Given the description of an element on the screen output the (x, y) to click on. 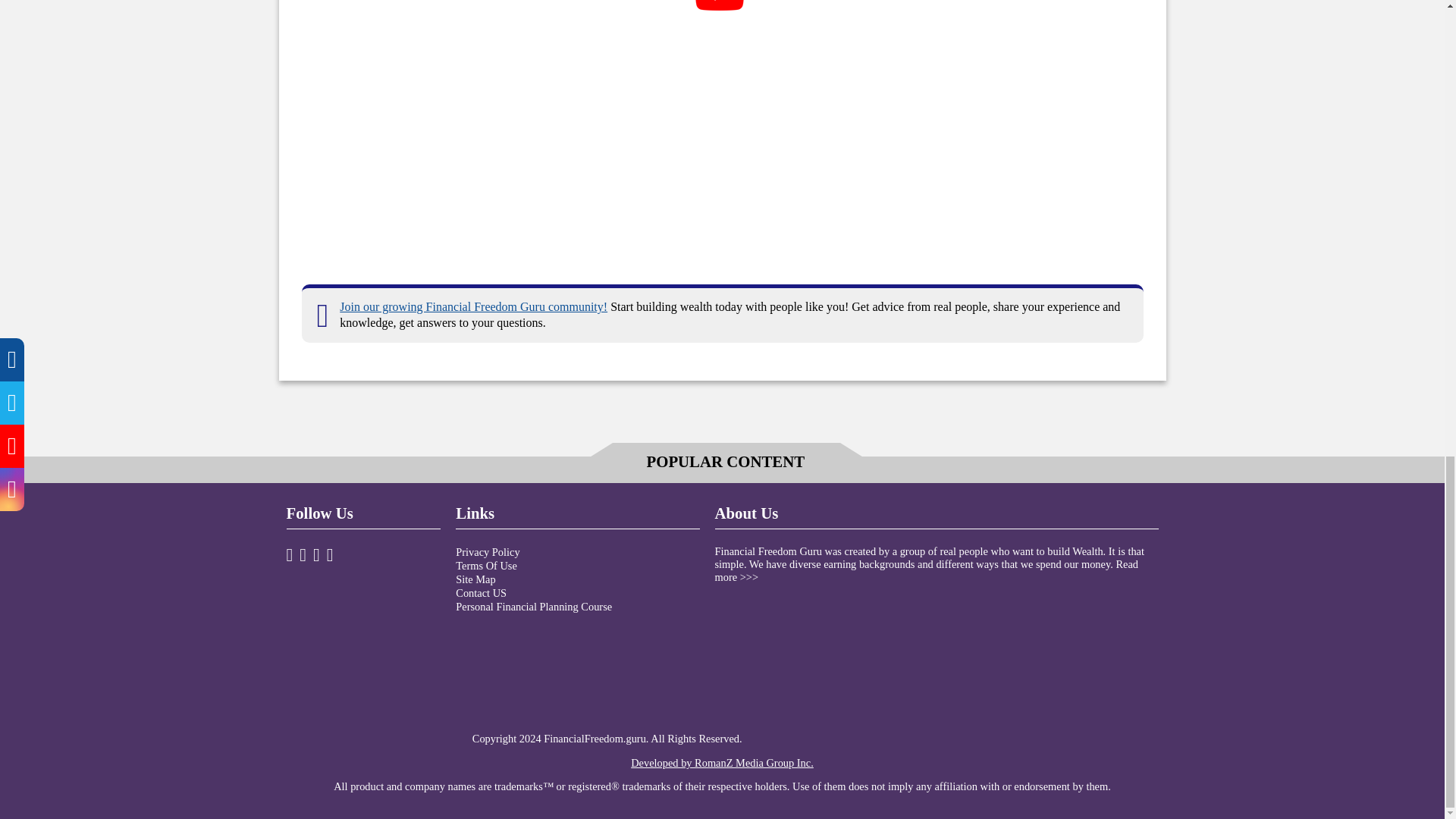
DMCA.com Protection Status (858, 738)
